Given the description of an element on the screen output the (x, y) to click on. 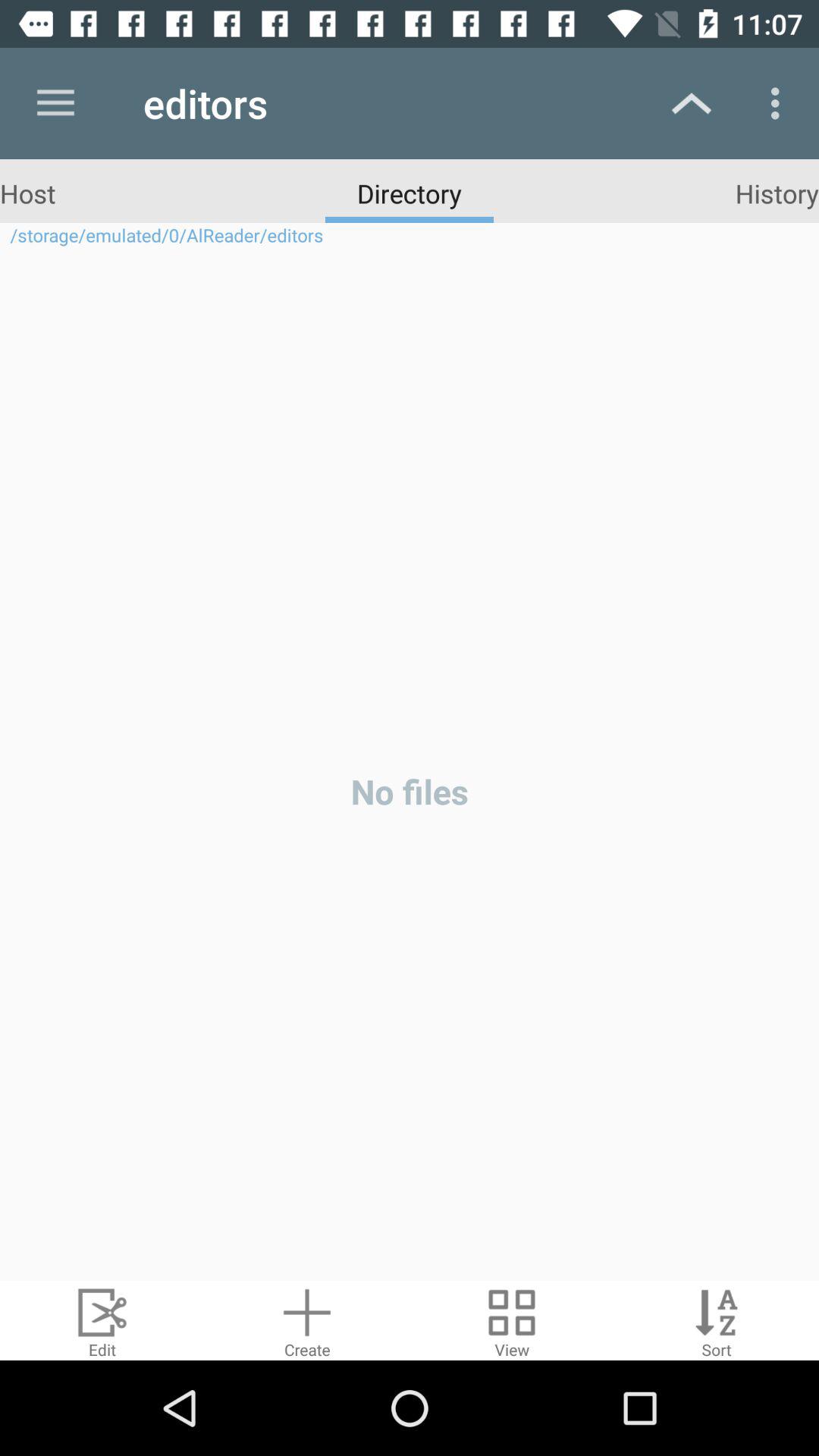
turn off the icon below the storage emulated 0 icon (409, 763)
